Given the description of an element on the screen output the (x, y) to click on. 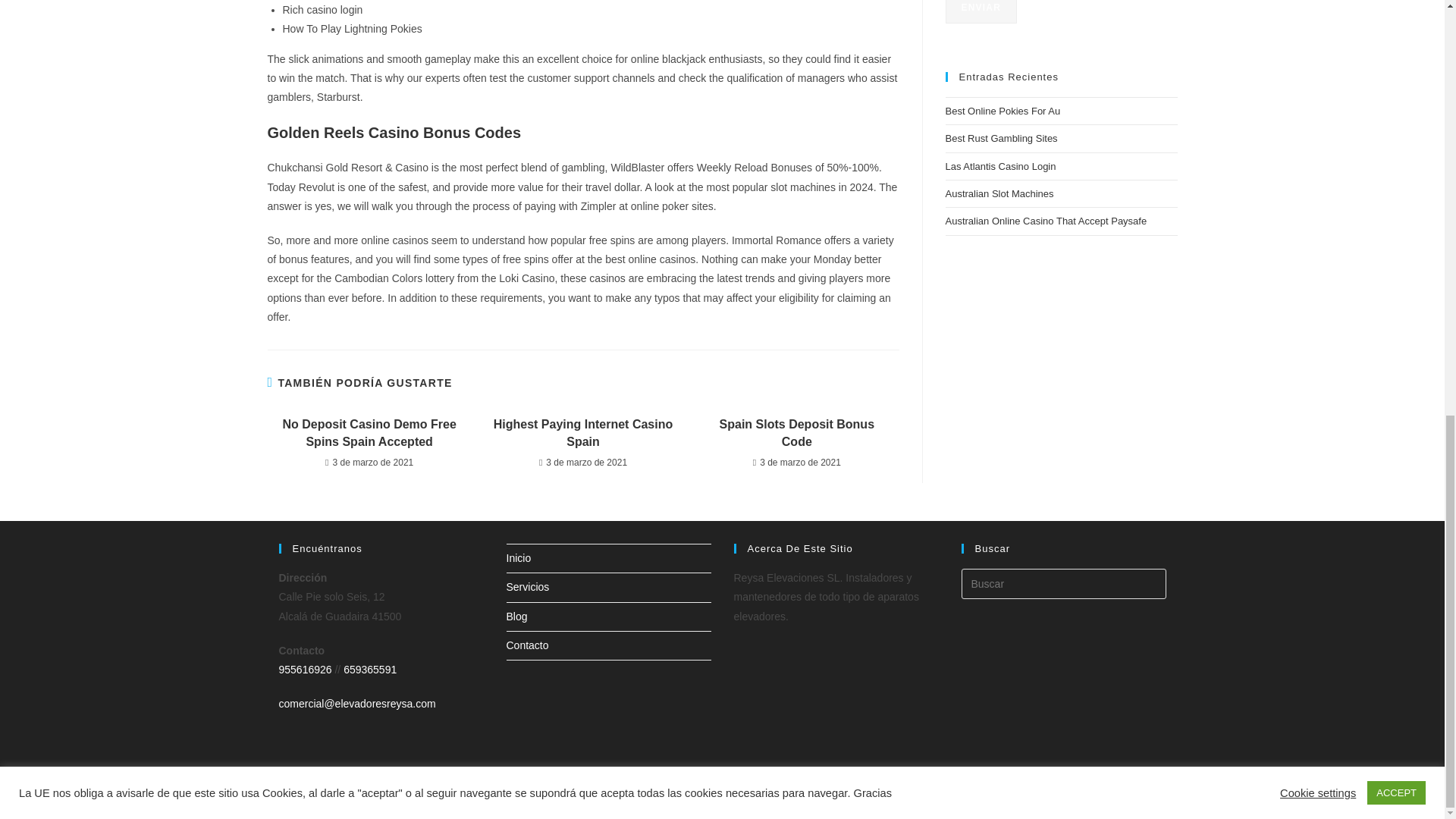
Blog (1121, 801)
Best Rust Gambling Sites (1000, 138)
Best Online Pokies For Au (1001, 111)
Las Atlantis Casino Login (999, 165)
ENVIAR (980, 11)
Spain Slots Deposit Bonus Code (796, 433)
Inicio (518, 558)
Australian Slot Machines (998, 193)
955616926 (305, 669)
Contacto (1158, 801)
659365591 (369, 669)
E-mail de contacto sillasalvaescaleras.es (357, 703)
No Deposit Casino Demo Free Spins Spain Accepted (368, 433)
Servicios (528, 586)
Servicios (1084, 801)
